Given the description of an element on the screen output the (x, y) to click on. 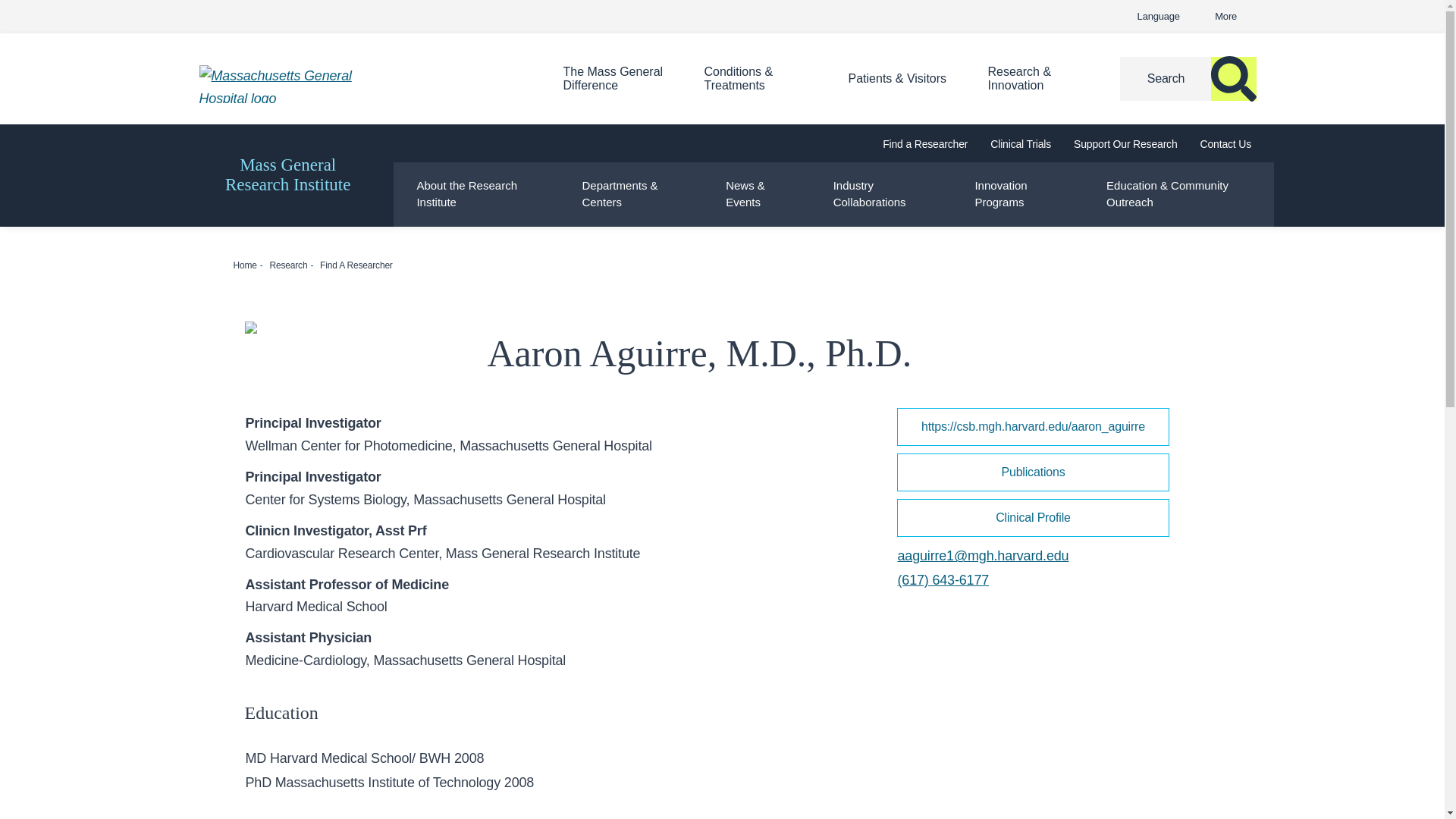
Home (357, 84)
Mass General Research Institute (287, 174)
Language (612, 78)
More (1160, 16)
